Given the description of an element on the screen output the (x, y) to click on. 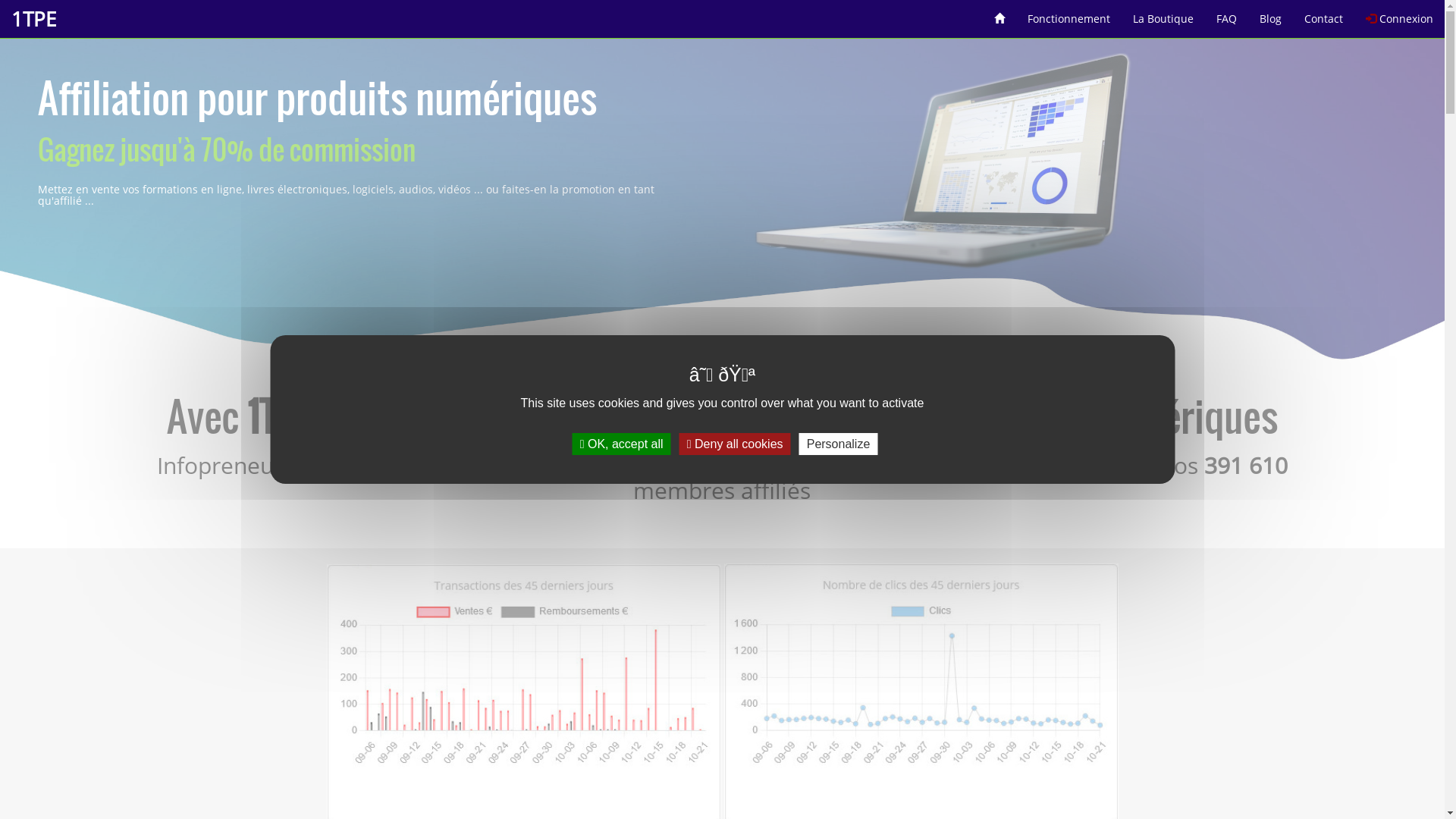
Connexion Element type: text (1399, 13)
Deny all cookies Element type: text (734, 444)
Fonctionnement Element type: text (1068, 13)
La Boutique Element type: text (1162, 13)
FAQ Element type: text (1226, 13)
Contact Element type: text (1323, 13)
Blog Element type: text (1270, 13)
OK, accept all Element type: text (621, 444)
1TPE Element type: text (33, 18)
Personalize Element type: text (838, 444)
